Given the description of an element on the screen output the (x, y) to click on. 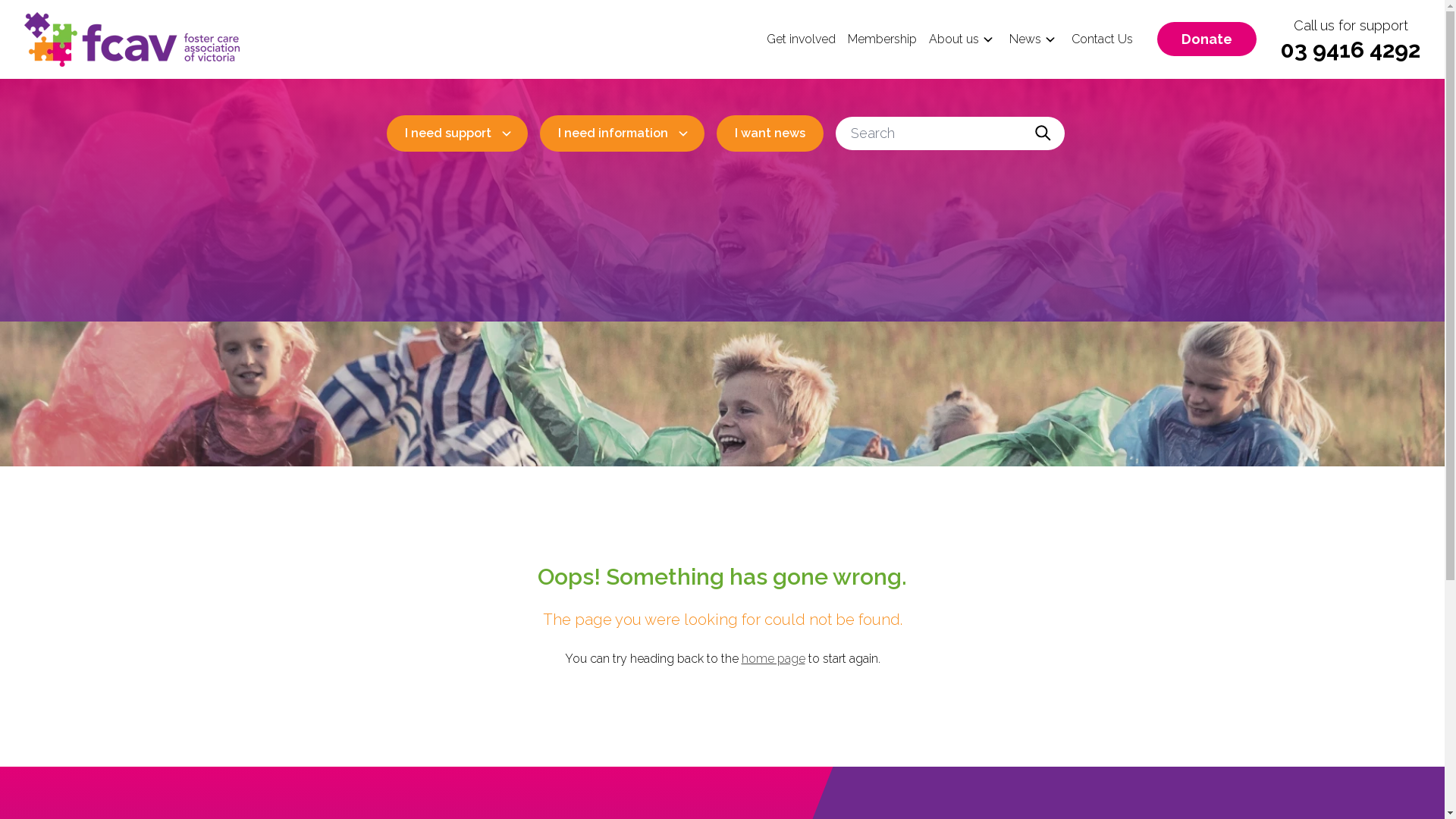
Membership Element type: text (881, 38)
I need support Element type: text (456, 133)
About us Element type: text (953, 38)
03 9416 4292 Element type: text (1350, 49)
I need information Element type: text (622, 133)
I want news Element type: text (769, 133)
Contact Us Element type: text (1101, 38)
Donate Element type: text (1206, 38)
Get involved Element type: text (800, 38)
News Element type: text (1025, 38)
home page Element type: text (773, 657)
